Given the description of an element on the screen output the (x, y) to click on. 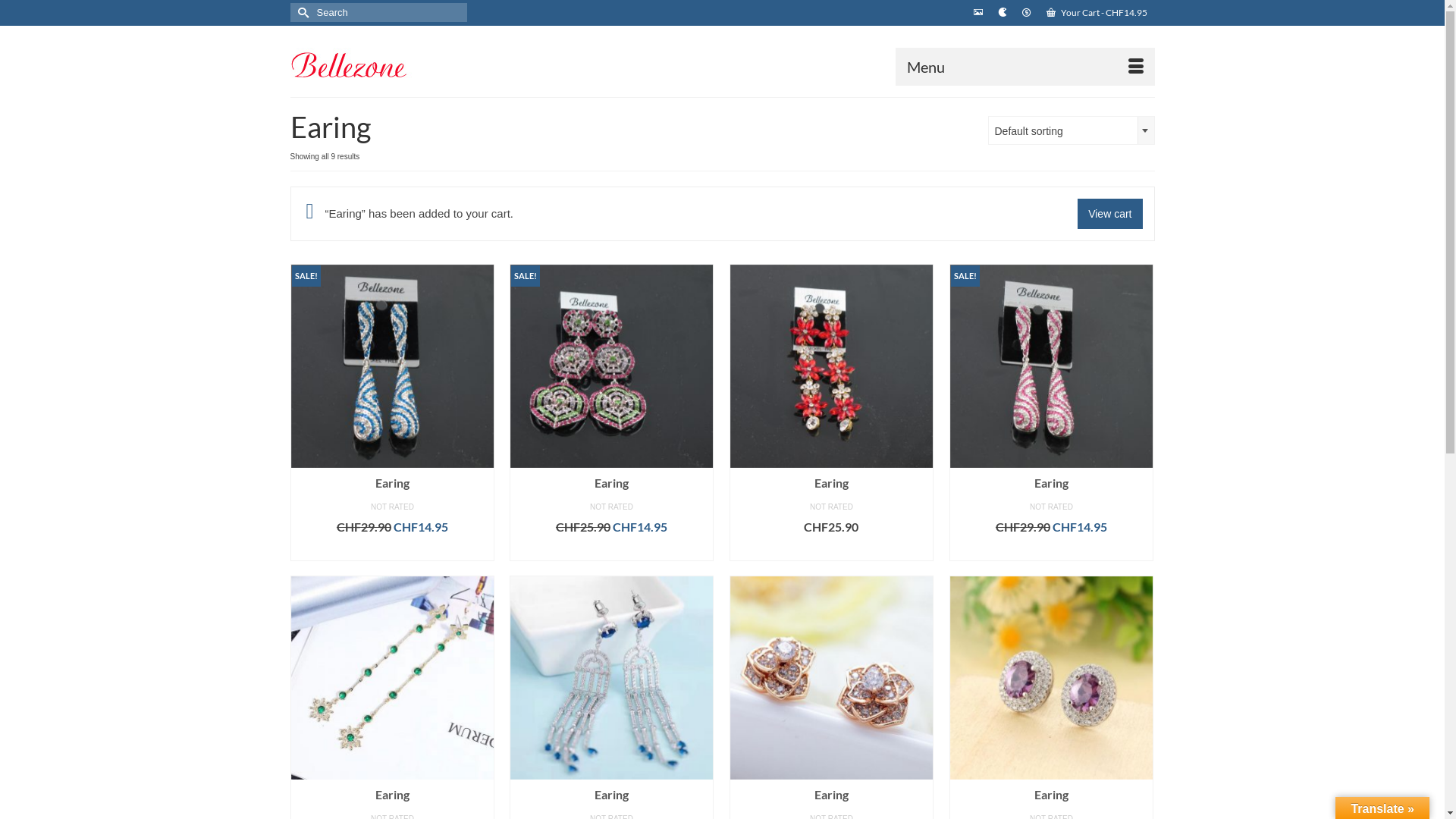
SALE! Element type: text (1050, 365)
Earing Element type: text (830, 482)
Earing Element type: text (392, 794)
READ MORE Element type: text (392, 549)
READ MORE Element type: text (830, 549)
Earing Element type: text (830, 794)
Earing Element type: text (392, 482)
Earing Element type: text (610, 482)
Menu Element type: text (1024, 66)
READ MORE Element type: text (610, 549)
View cart Element type: text (1109, 213)
Your Cart - CHF14.95 Element type: text (1096, 12)
Bellezone Element type: hover (425, 61)
Earing Element type: text (610, 794)
SALE! Element type: text (392, 365)
SALE! Element type: text (610, 365)
Earing Element type: text (1050, 794)
Earing Element type: text (1050, 482)
ADD TO CART Element type: text (1050, 549)
